Given the description of an element on the screen output the (x, y) to click on. 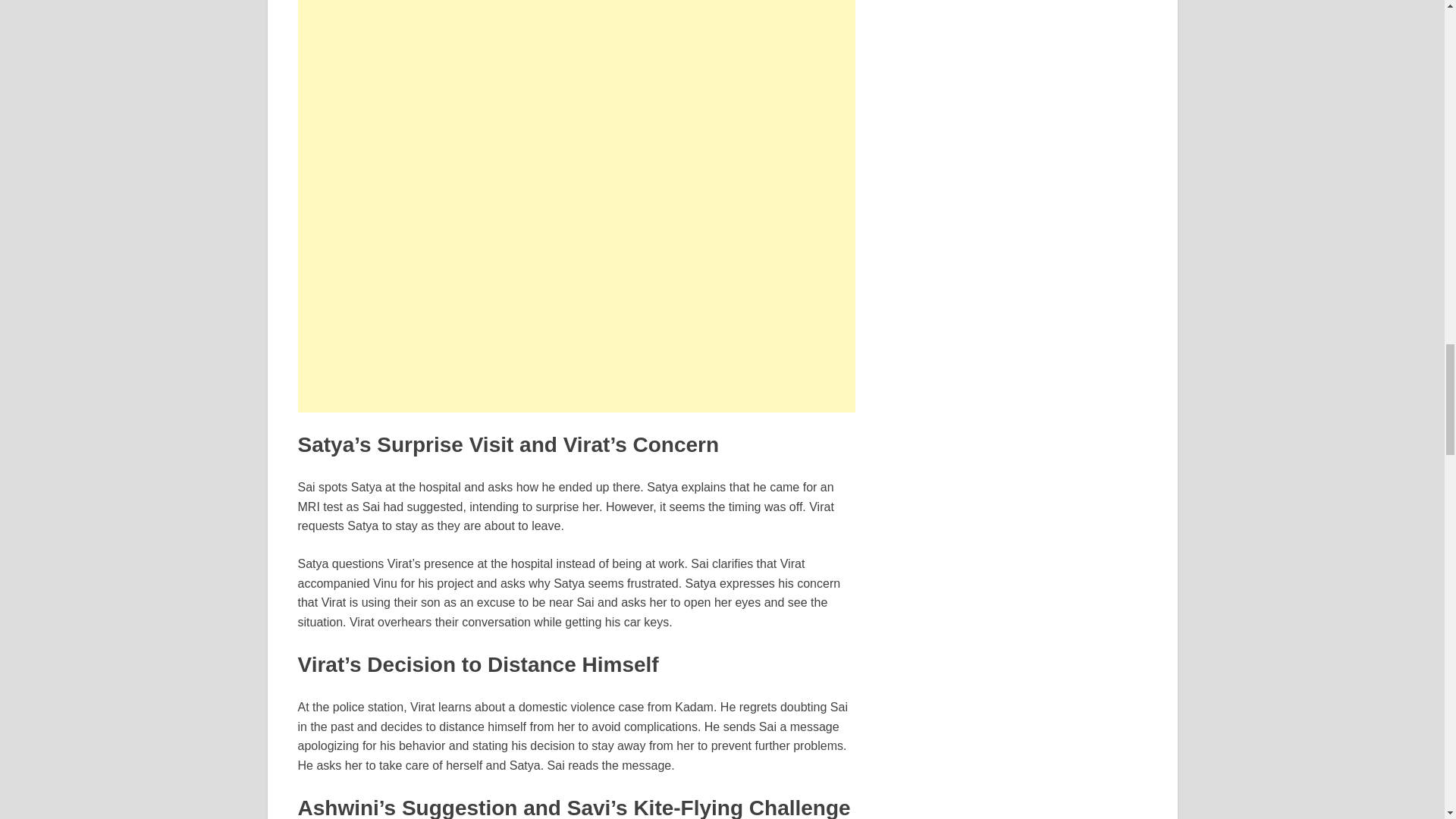
Advertisement (575, 99)
Advertisement (575, 305)
